Given the description of an element on the screen output the (x, y) to click on. 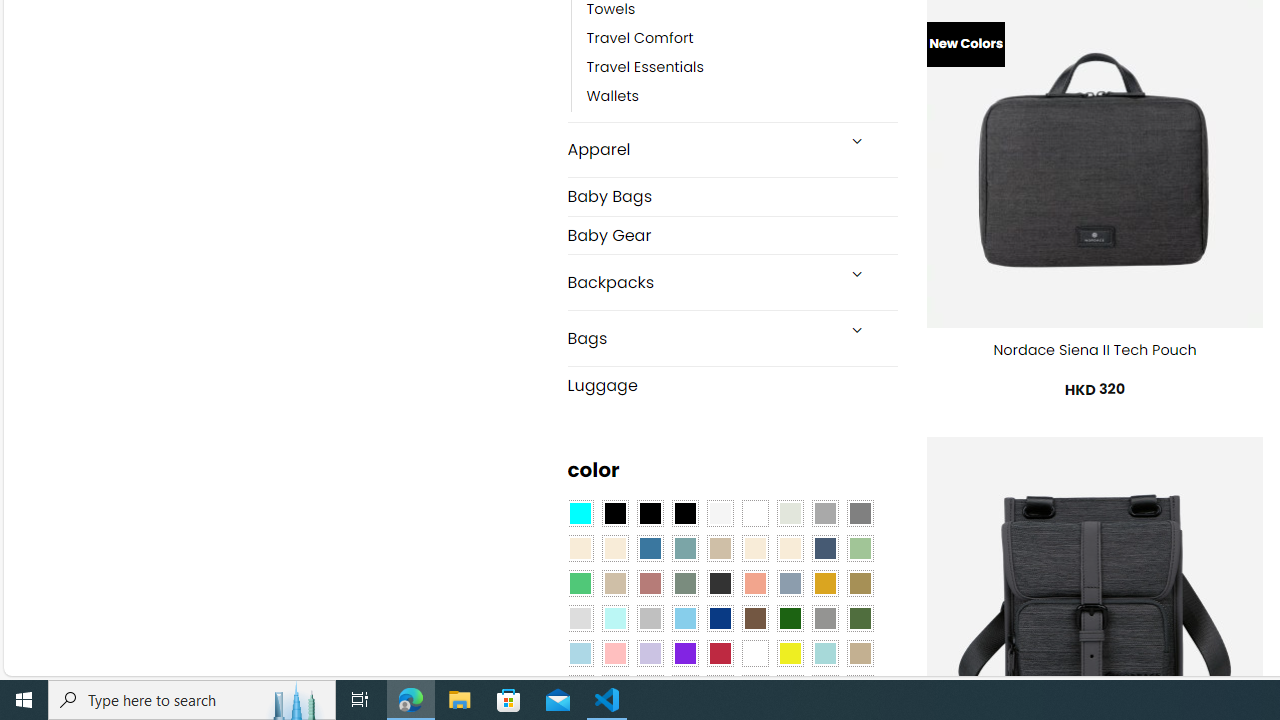
Dark Gray (824, 514)
Khaki (859, 653)
Blue Sage (684, 548)
Caramel (755, 548)
Sage (684, 583)
Luggage (732, 384)
Pink (614, 653)
Light Taupe (614, 583)
Backpacks (700, 282)
Cream (789, 548)
Nordace Siena II Tech Pouch (1094, 350)
Dark Green (789, 619)
